Given the description of an element on the screen output the (x, y) to click on. 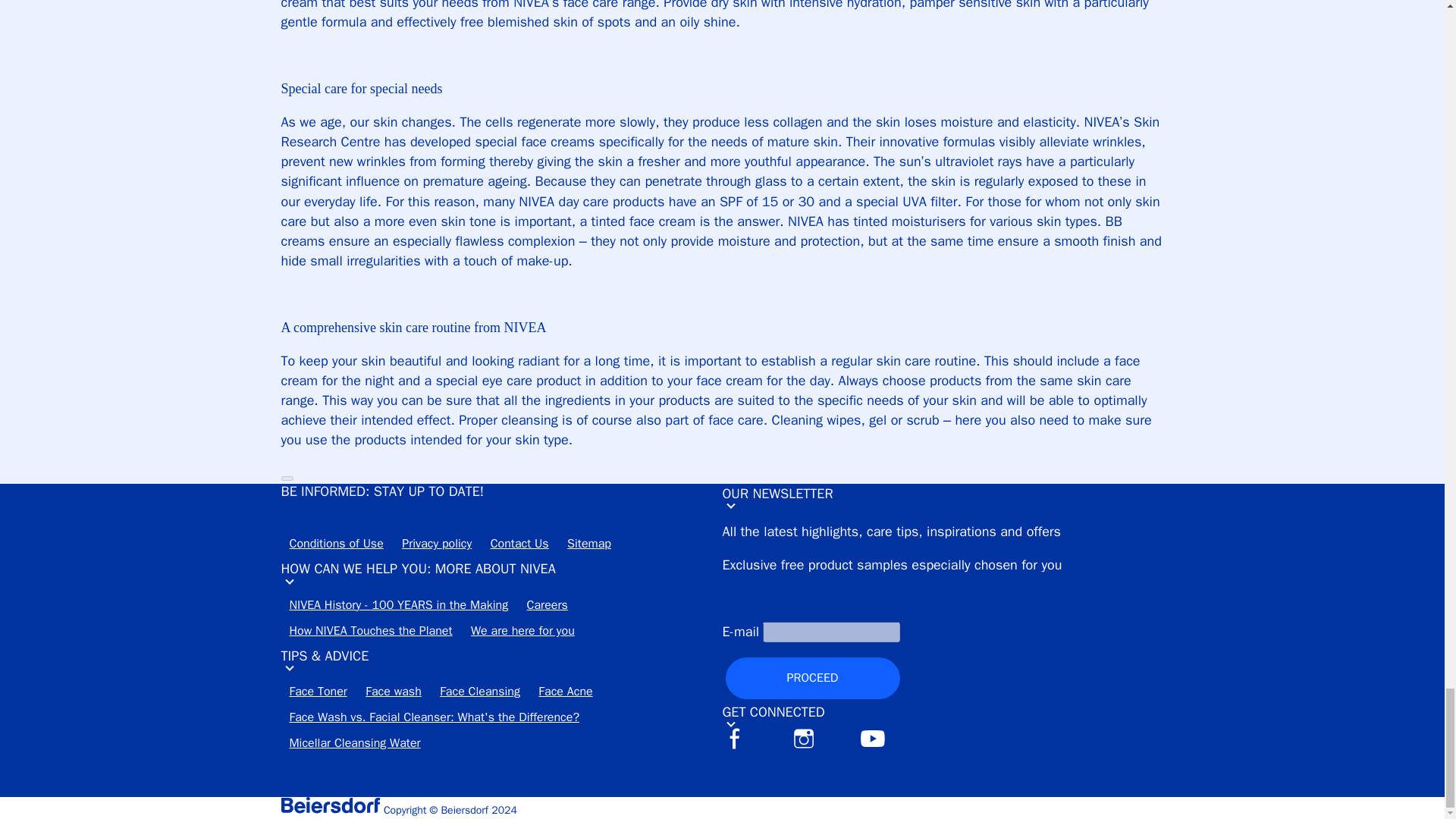
Privacy policy (436, 547)
Conditions of Use (336, 547)
